Given the description of an element on the screen output the (x, y) to click on. 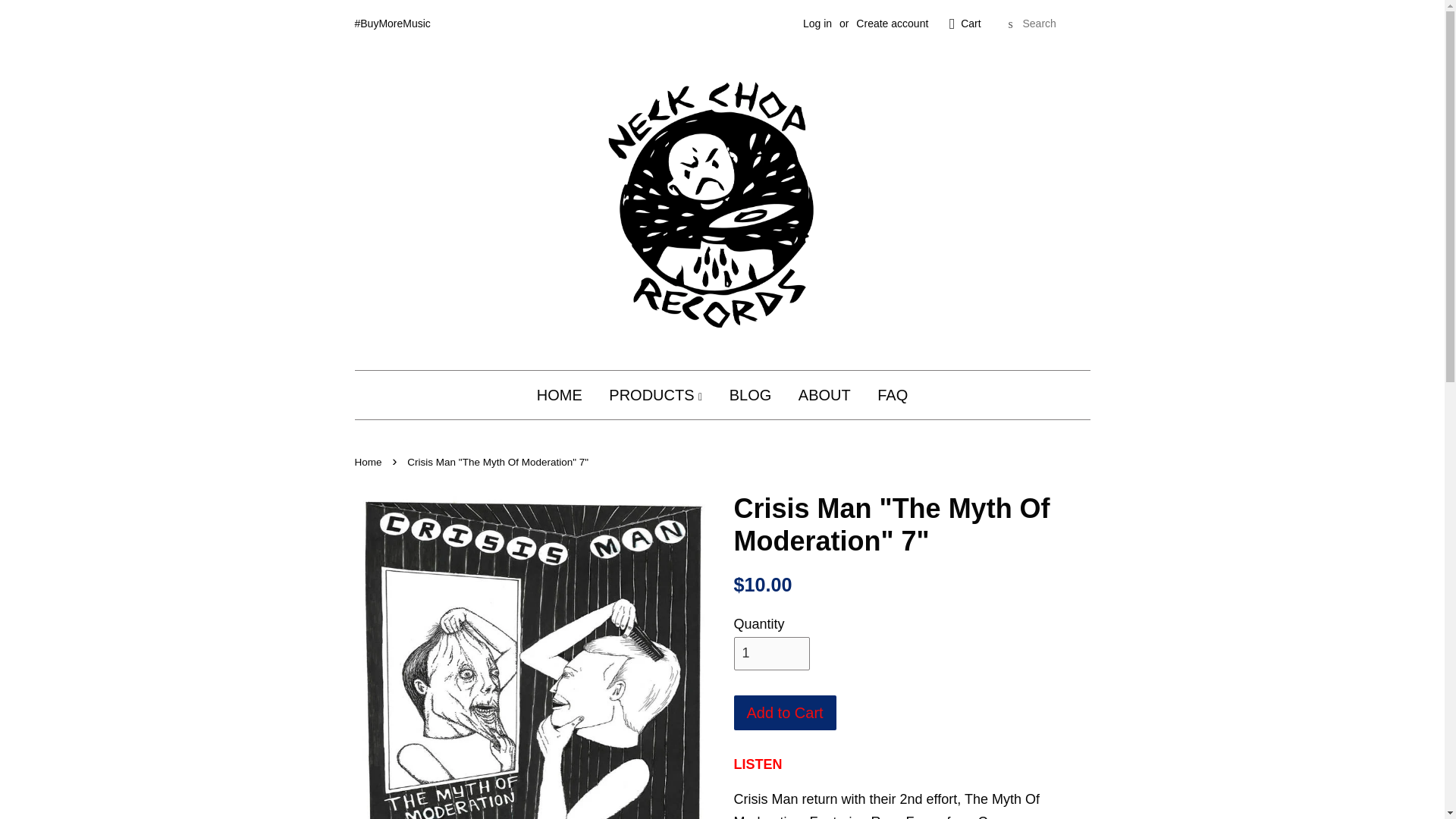
Back to the frontpage (370, 461)
PRODUCTS (654, 395)
LISTEN (758, 764)
HOME (565, 395)
BLOG (750, 395)
Home (370, 461)
ABOUT (824, 395)
Create account (892, 23)
1 (771, 653)
Search (1010, 24)
